Given the description of an element on the screen output the (x, y) to click on. 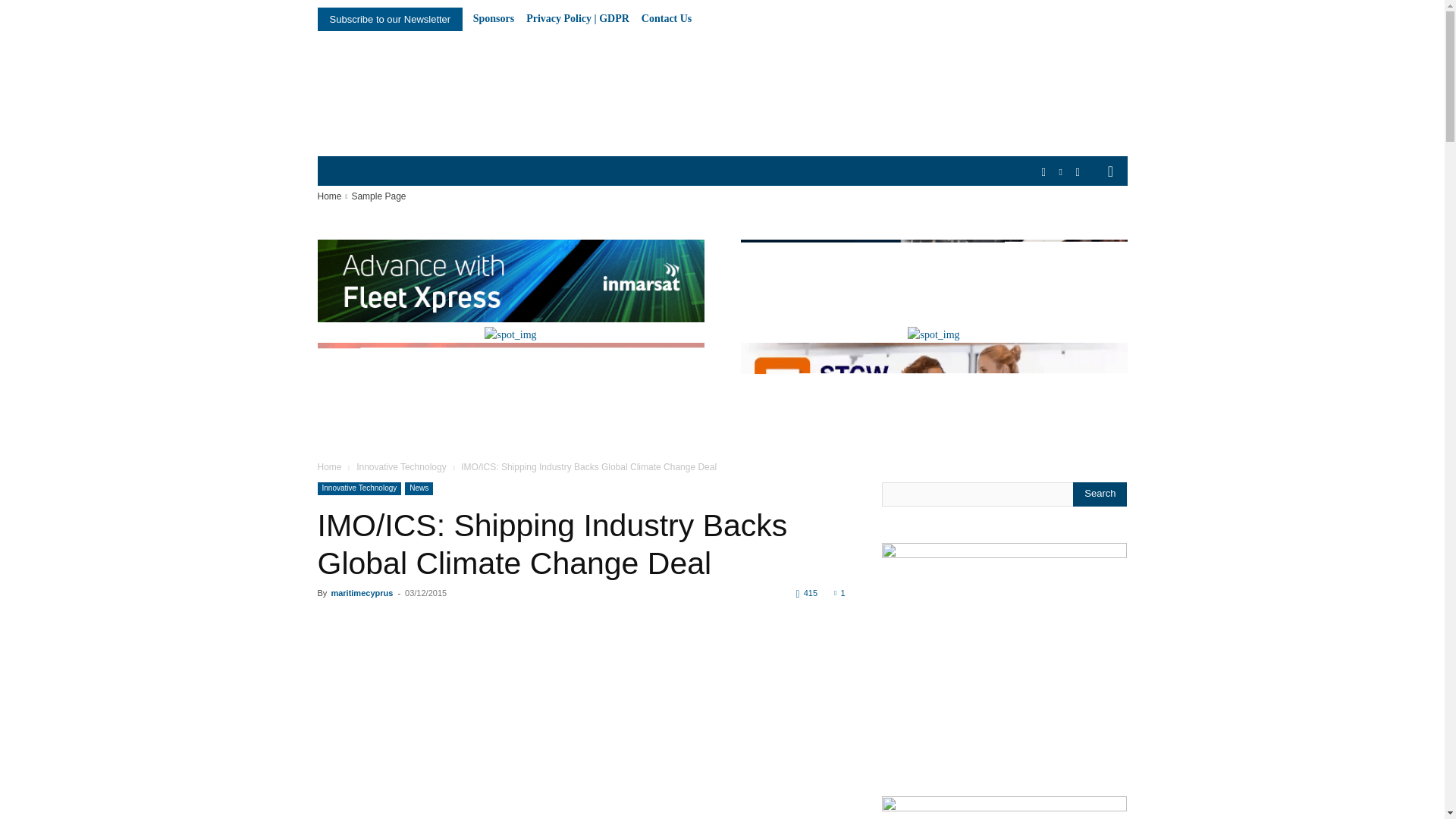
Subscribe to our Newsletter (390, 19)
Contact Us (667, 18)
Search (1099, 494)
Facebook (1043, 171)
Subscribe to our Newsletter (390, 19)
Twitter (1077, 171)
Sponsors (493, 18)
Linkedin (1061, 171)
